Given the description of an element on the screen output the (x, y) to click on. 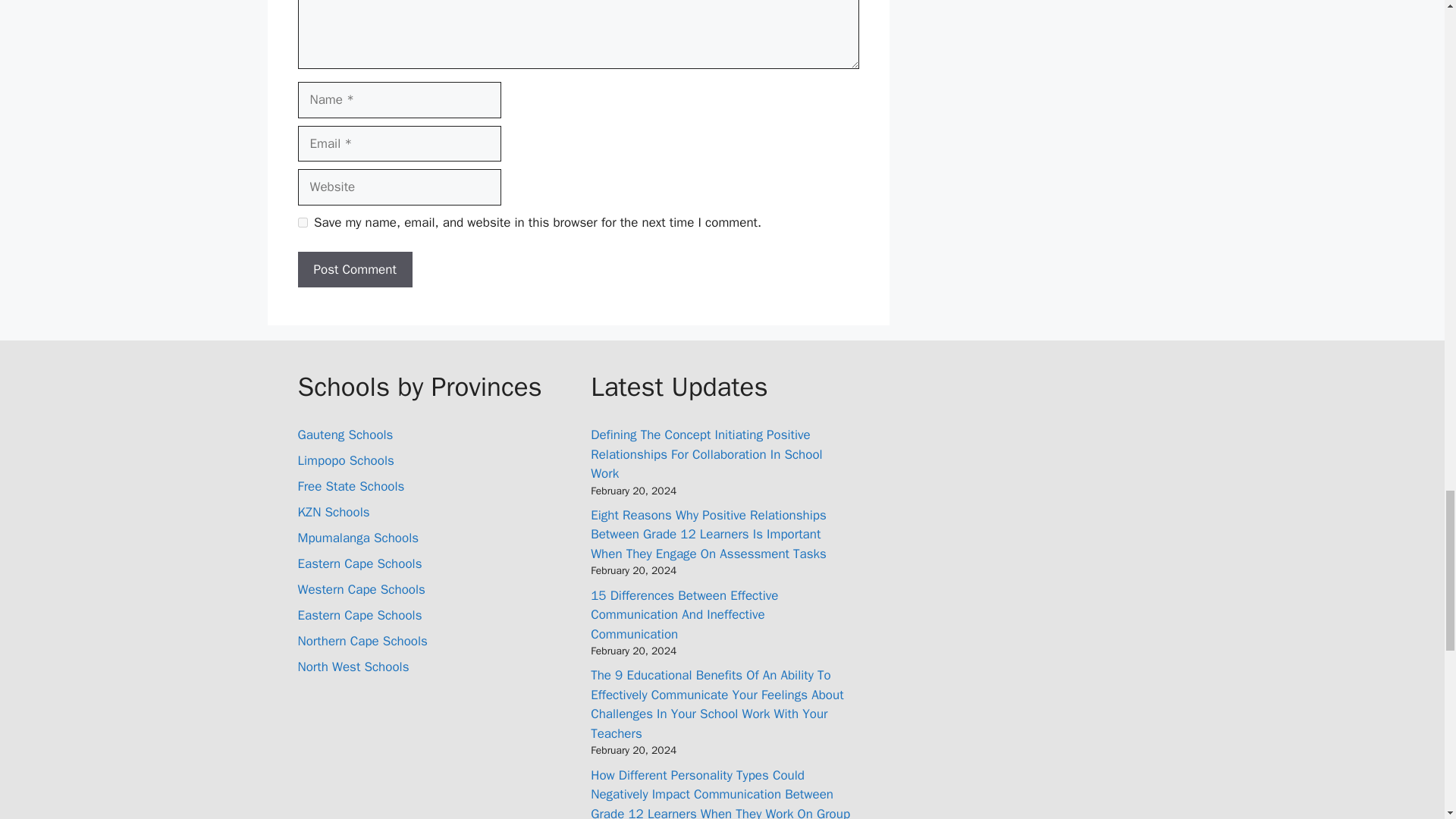
Post Comment (354, 269)
yes (302, 222)
